Given the description of an element on the screen output the (x, y) to click on. 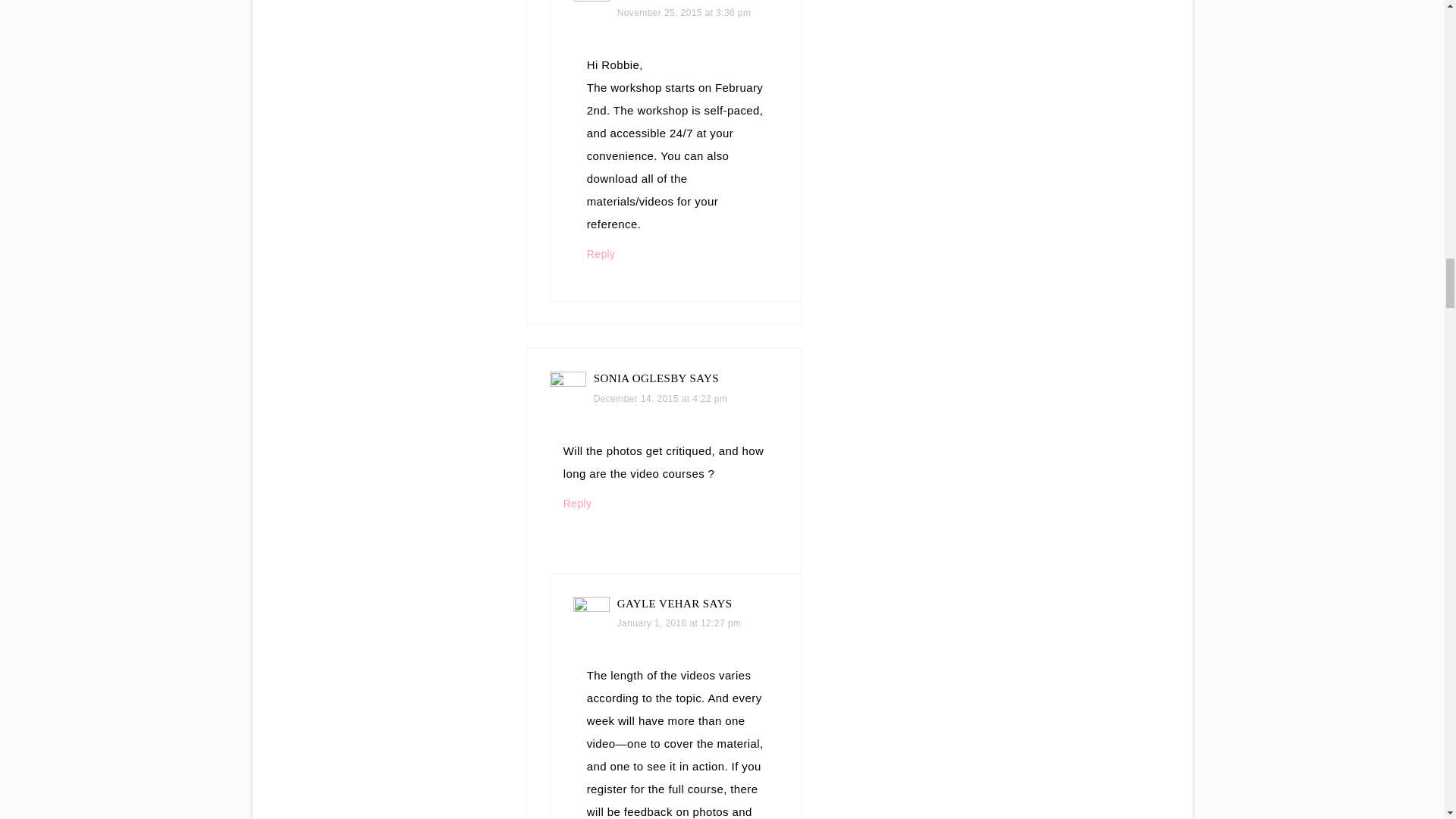
December 14, 2015 at 4:22 pm (661, 398)
Reply (600, 254)
November 25, 2015 at 3:36 pm (684, 12)
